Given the description of an element on the screen output the (x, y) to click on. 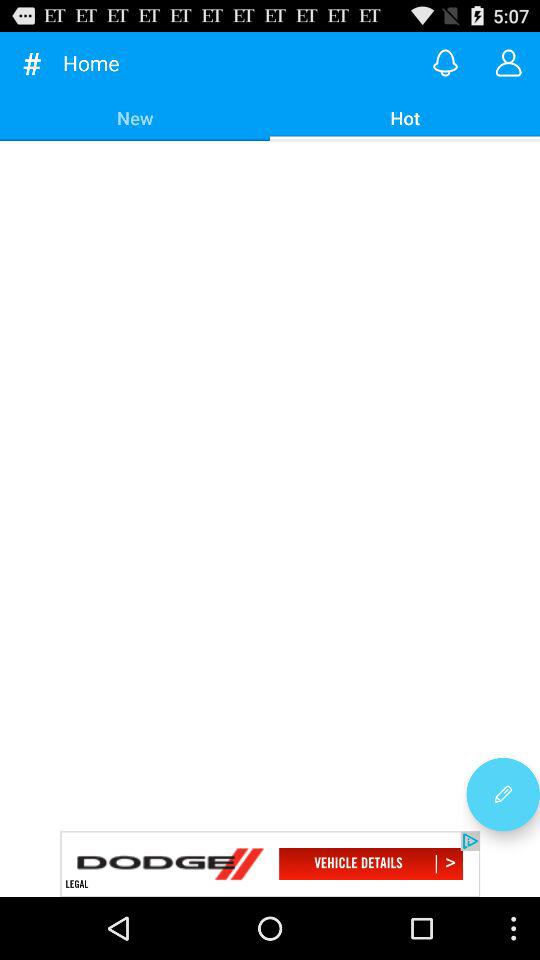
online option (445, 62)
